Given the description of an element on the screen output the (x, y) to click on. 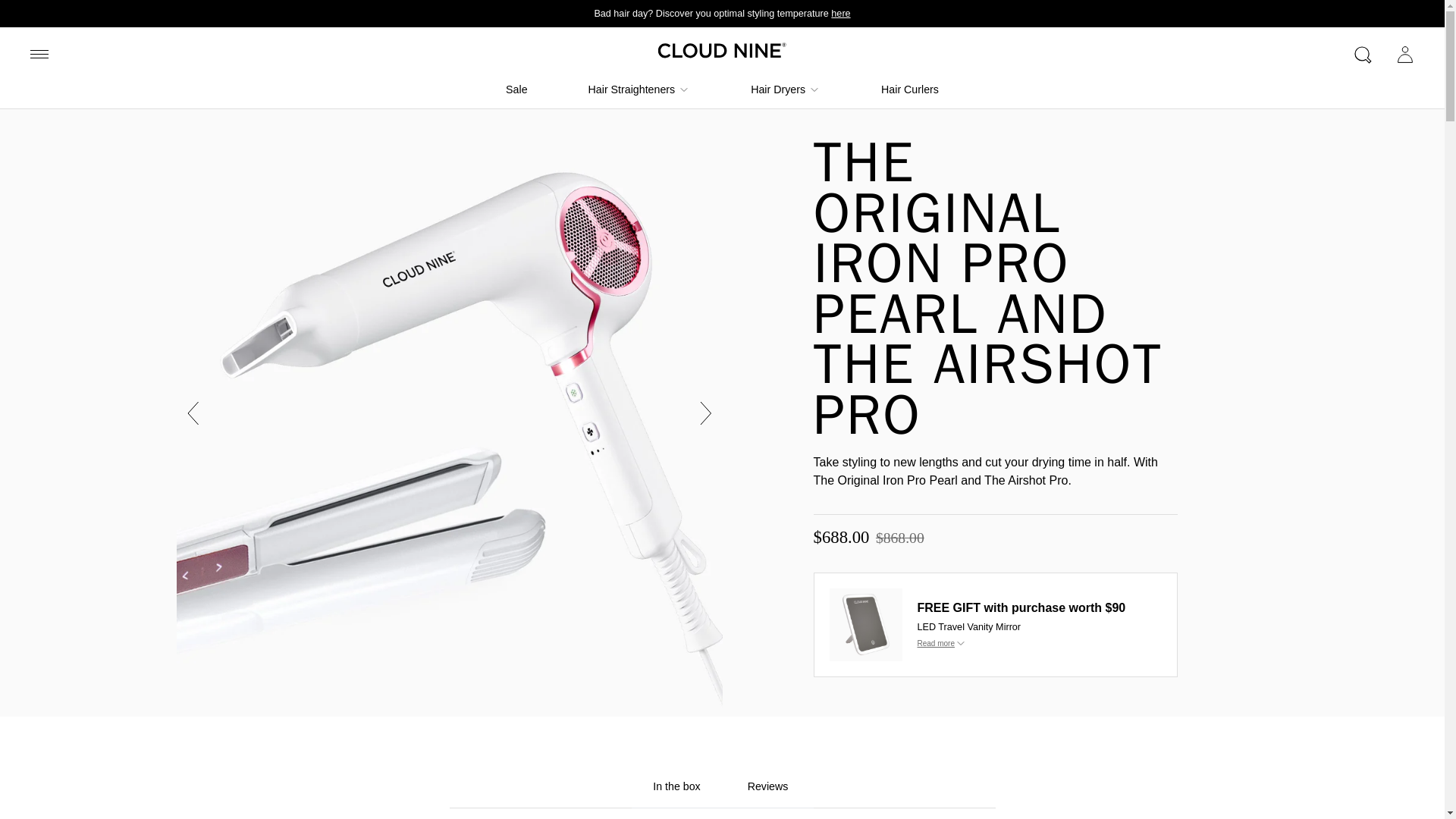
Hair Straighteners (631, 89)
Sale (516, 89)
Bad hair day? Discover you optimal styling temperature here (722, 13)
Hair Dryers (778, 89)
